Given the description of an element on the screen output the (x, y) to click on. 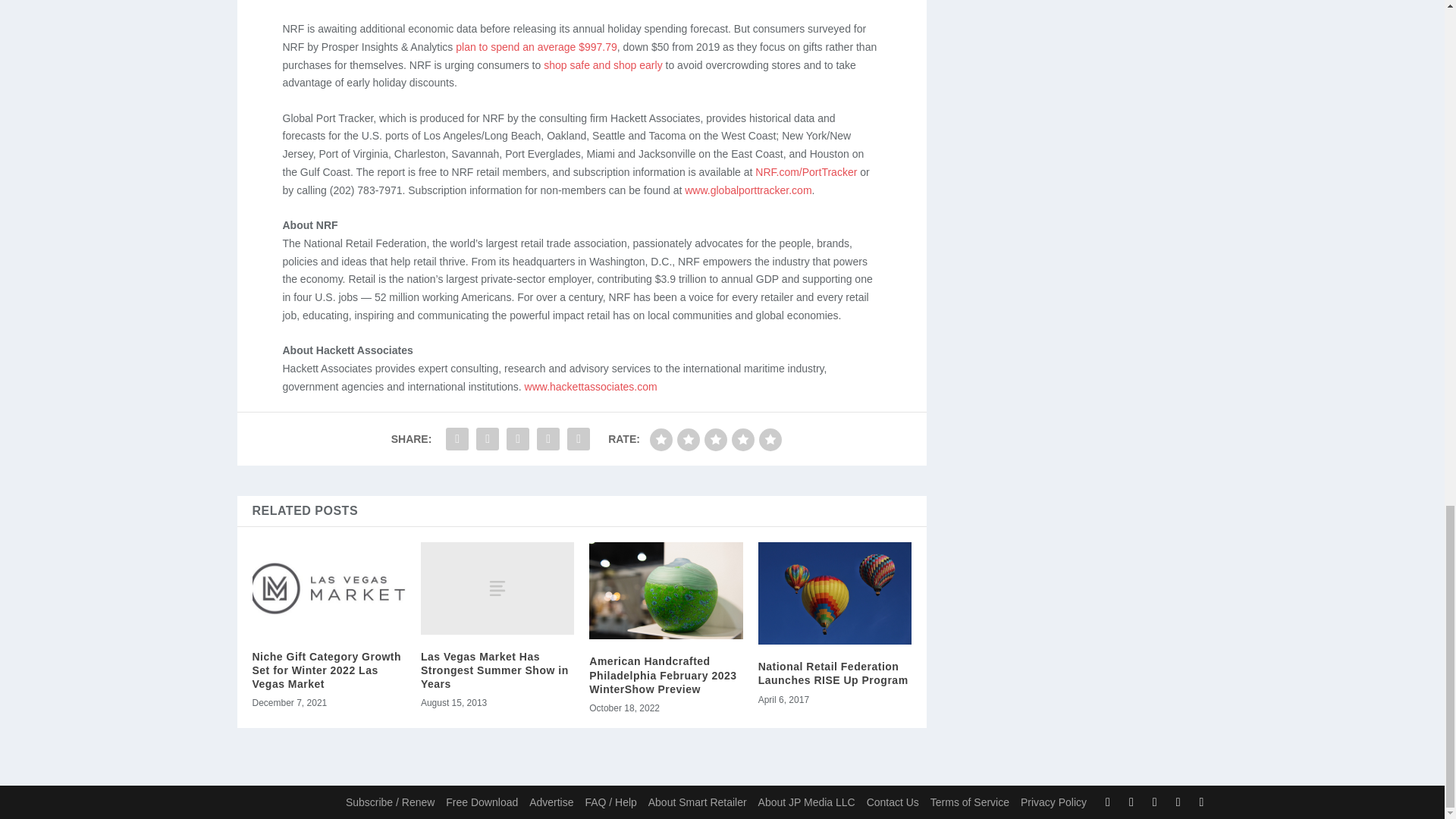
Las Vegas Market Has Strongest Summer Show in Years (496, 587)
good (743, 439)
www.globalporttracker.com (747, 190)
regular (715, 439)
www.hackettassociates.com (591, 386)
bad (660, 439)
gorgeous (769, 439)
shop safe and shop early (602, 64)
